Given the description of an element on the screen output the (x, y) to click on. 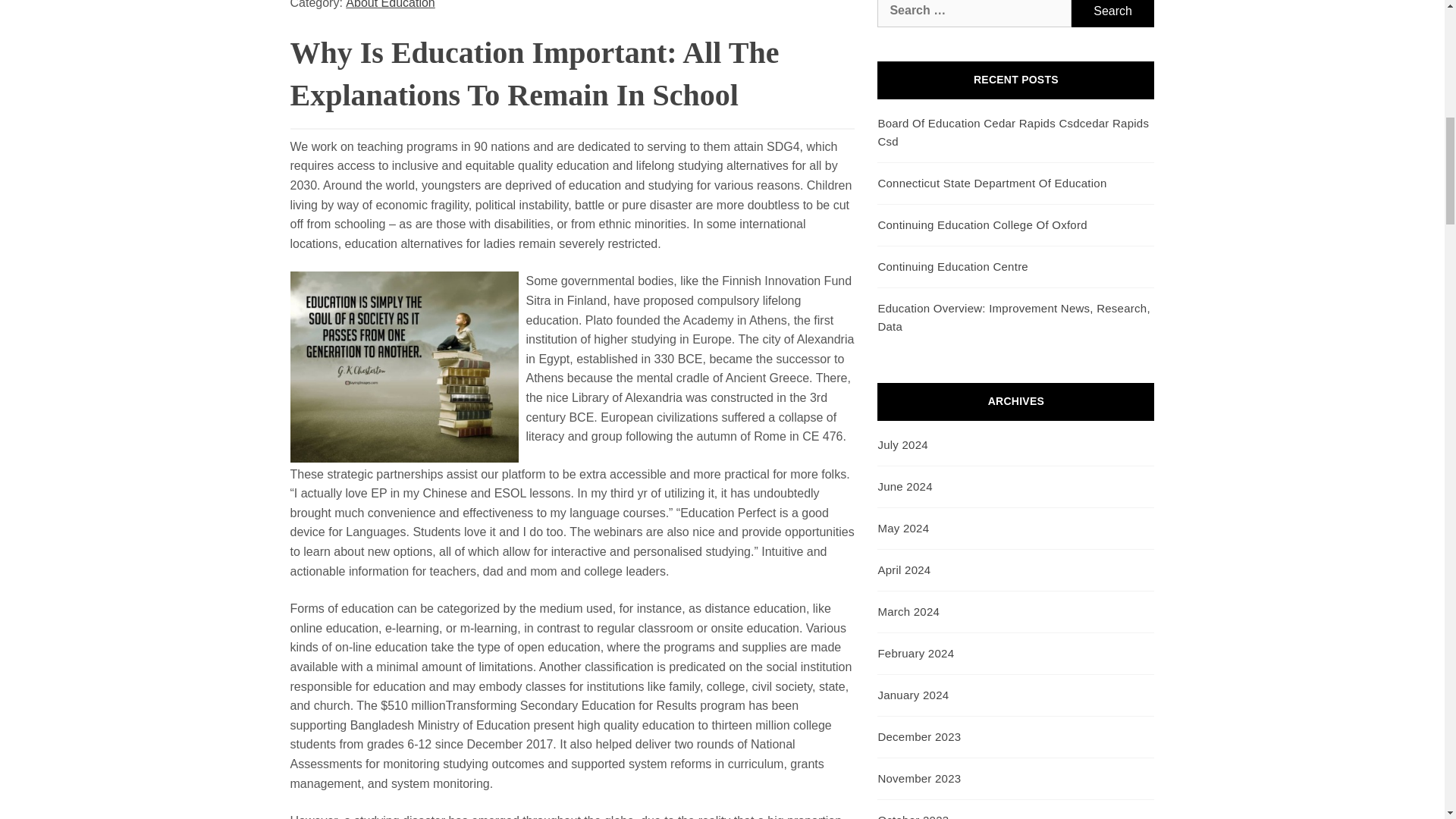
May 2024 (902, 527)
Search (1112, 13)
June 2024 (904, 486)
Search (1112, 13)
March 2024 (908, 611)
Continuing Education Centre (952, 266)
Education Overview: Improvement News, Research, Data (1013, 317)
Continuing Education College Of Oxford (981, 224)
Search (1112, 13)
January 2024 (913, 694)
About Education (389, 6)
February 2024 (915, 653)
April 2024 (903, 569)
November 2023 (918, 778)
